Given the description of an element on the screen output the (x, y) to click on. 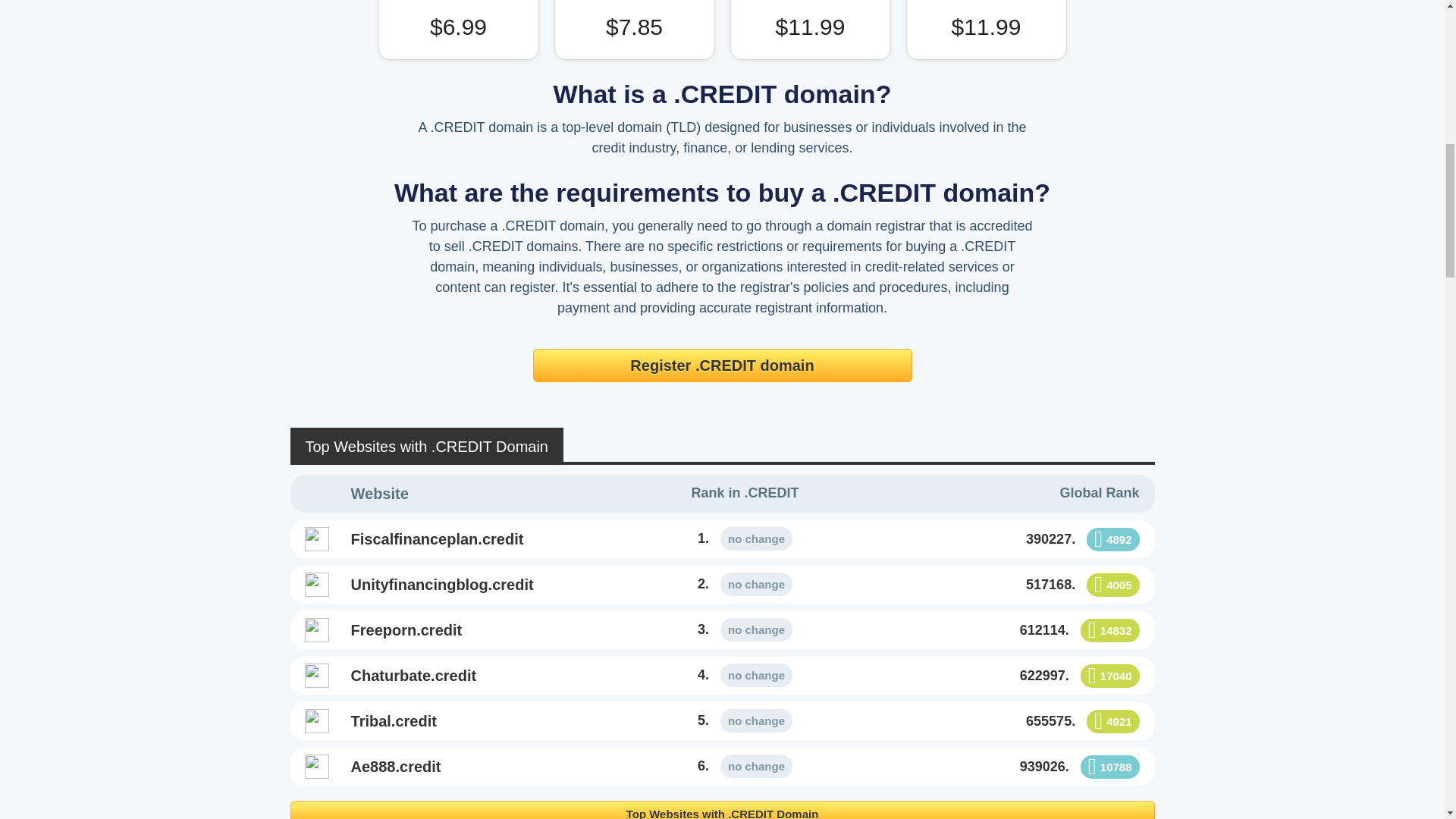
Register .CREDIT domain (721, 365)
unityfinancingblog.credit ranks number 517168. Globally (1008, 584)
Top Websites with .CREDIT Domain (721, 809)
unityfinancingblog.credit ranks number 2. in .CREDIT domain (744, 584)
Maintained position (756, 584)
unityfinancingblog.credit ranks number 2. in .CREDIT domain (481, 584)
fiscalfinanceplan.credit ranks number 1. in .CREDIT domain (744, 538)
fiscalfinanceplan.credit ranks number 390227. Globally (1008, 538)
Maintained position (756, 538)
fiscalfinanceplan.credit ranks number 1. in .CREDIT domain (481, 538)
Dropped 4892 positions (1112, 539)
